Given the description of an element on the screen output the (x, y) to click on. 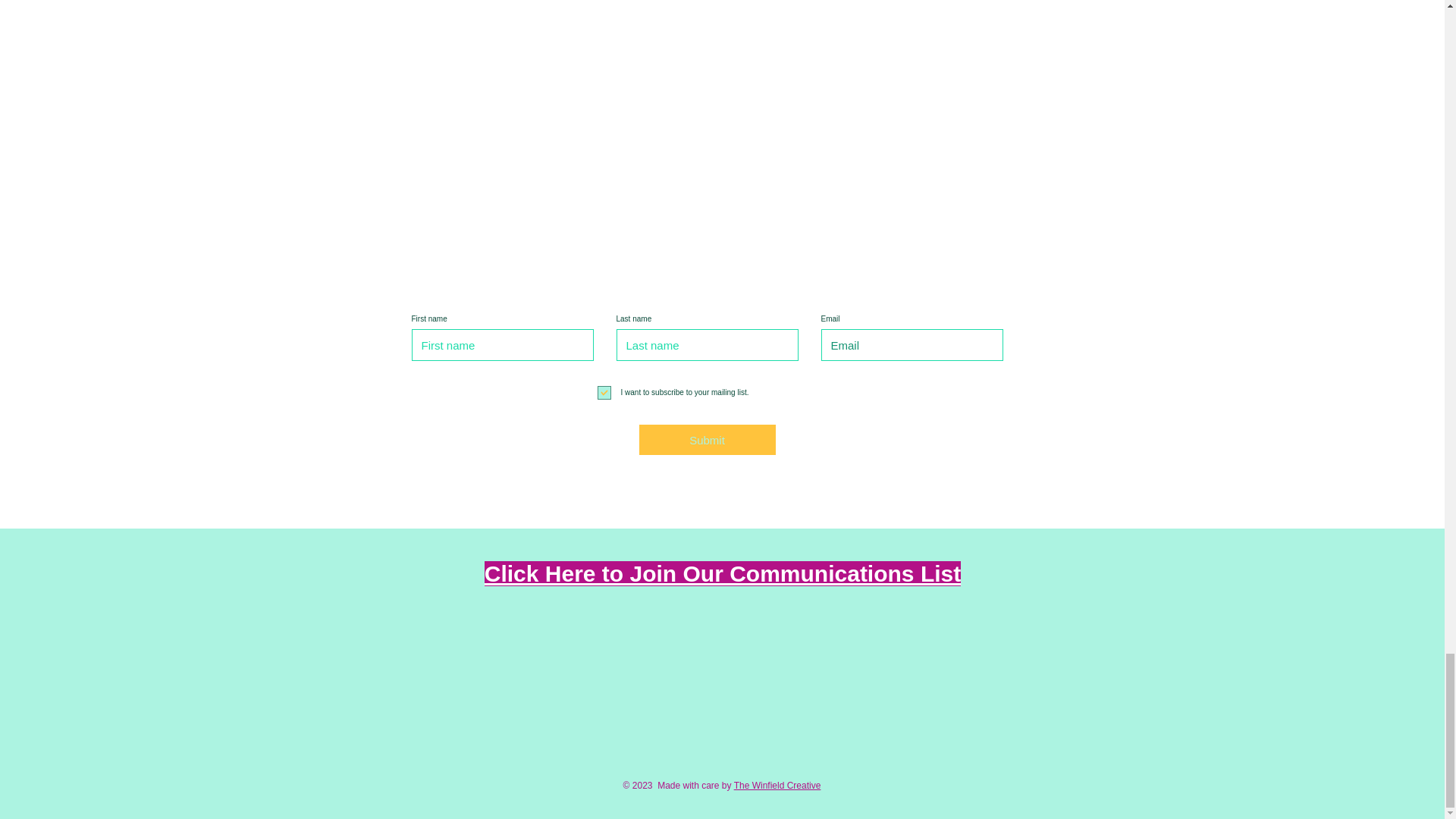
Click Here to Join Our Communications List (722, 573)
The Winfield Creative (777, 785)
Submit (706, 440)
